Given the description of an element on the screen output the (x, y) to click on. 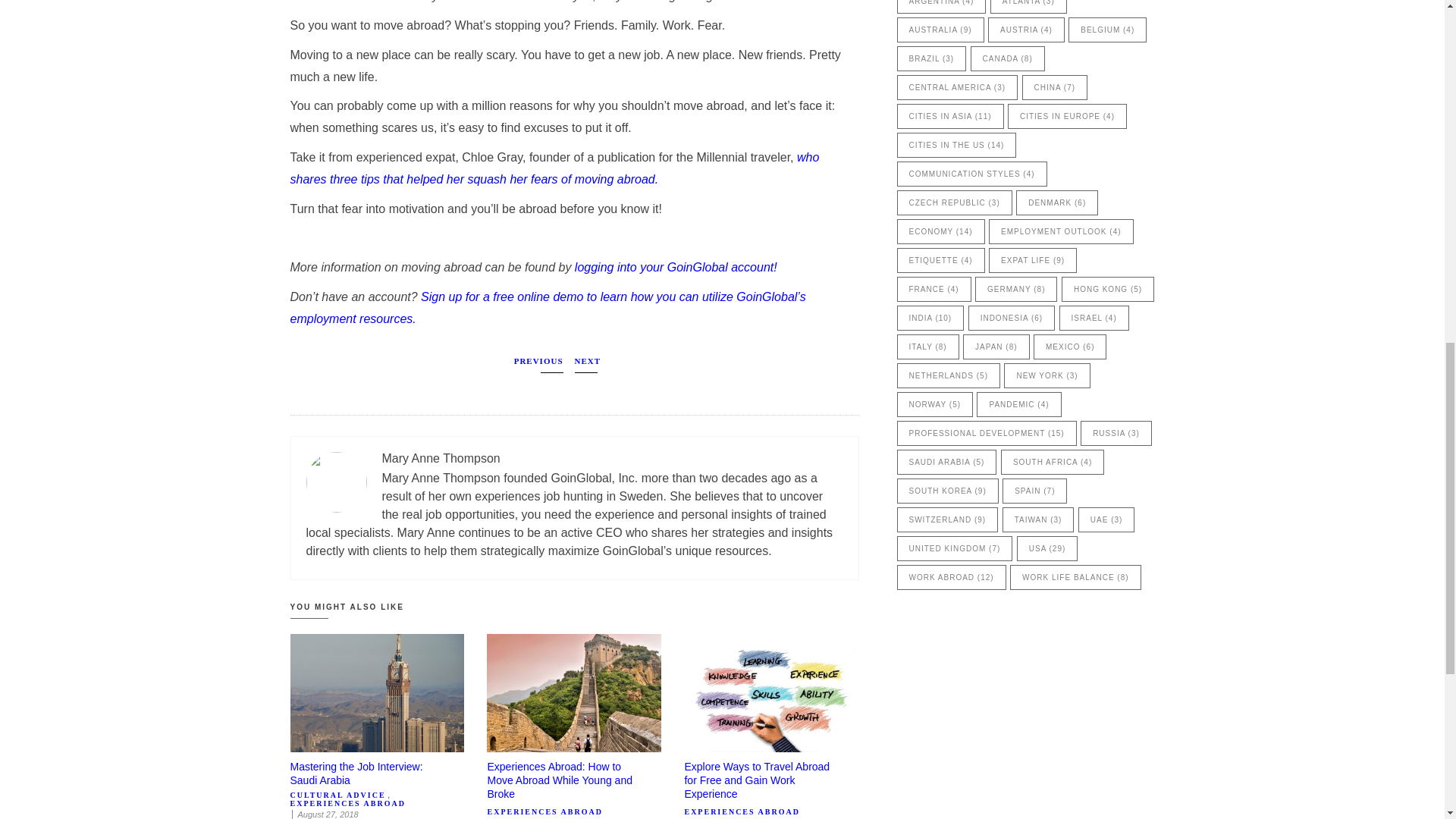
PREVIOUS (538, 364)
EXPERIENCES ABROAD (741, 811)
CULTURAL ADVICE (337, 795)
EXPERIENCES ABROAD (346, 803)
logging into your GoinGlobal account! (676, 267)
NEXT (588, 364)
Experiences Abroad: How to Move Abroad While Young and Broke (558, 780)
EXPERIENCES ABROAD (544, 811)
Mastering the Job Interview: Saudi Arabia (355, 773)
